Given the description of an element on the screen output the (x, y) to click on. 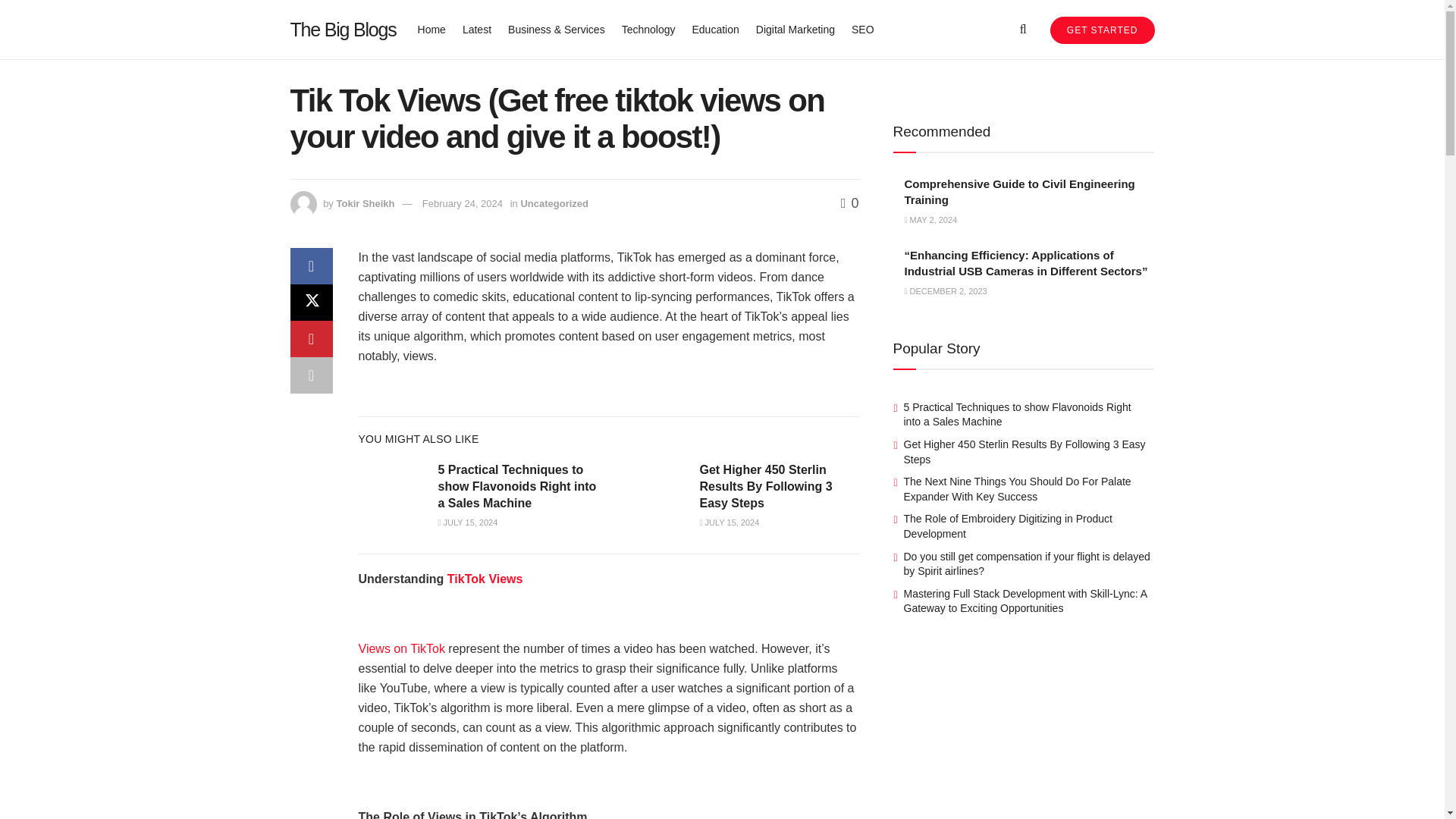
SEO (863, 29)
Digital Marketing (794, 29)
Latest (477, 29)
February 24, 2024 (462, 203)
0 (850, 202)
Get Higher 450 Sterlin Results By Following 3 Easy Steps (764, 486)
The Big Blogs (342, 28)
Tokir Sheikh (365, 203)
GET STARTED (1101, 30)
